Given the description of an element on the screen output the (x, y) to click on. 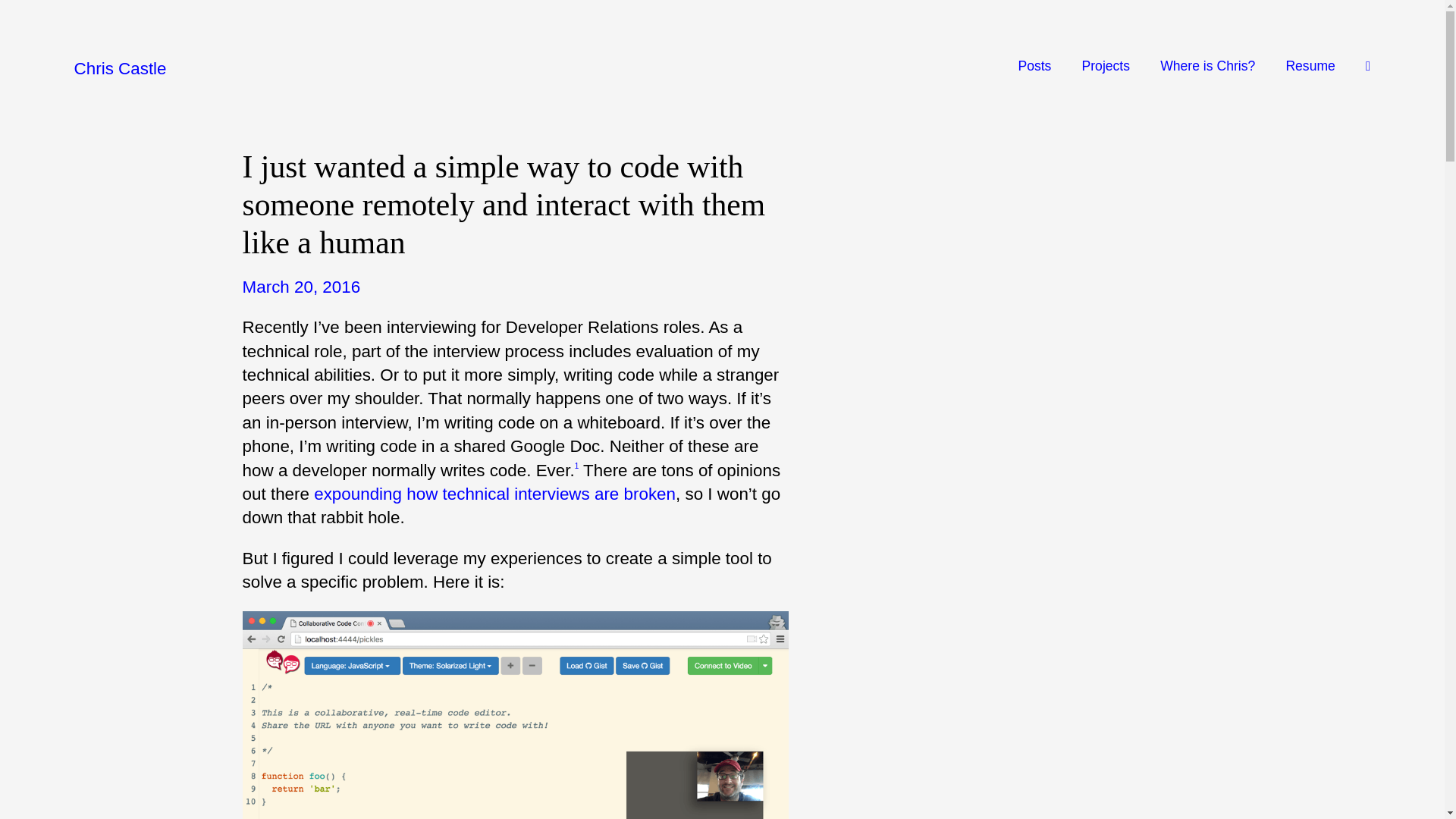
Resume (1310, 65)
Projects (1105, 65)
expounding (357, 493)
Posts (1034, 65)
interviews (551, 493)
Posts (1034, 65)
Resume (1310, 65)
broken (649, 493)
are (606, 493)
how (422, 493)
